Given the description of an element on the screen output the (x, y) to click on. 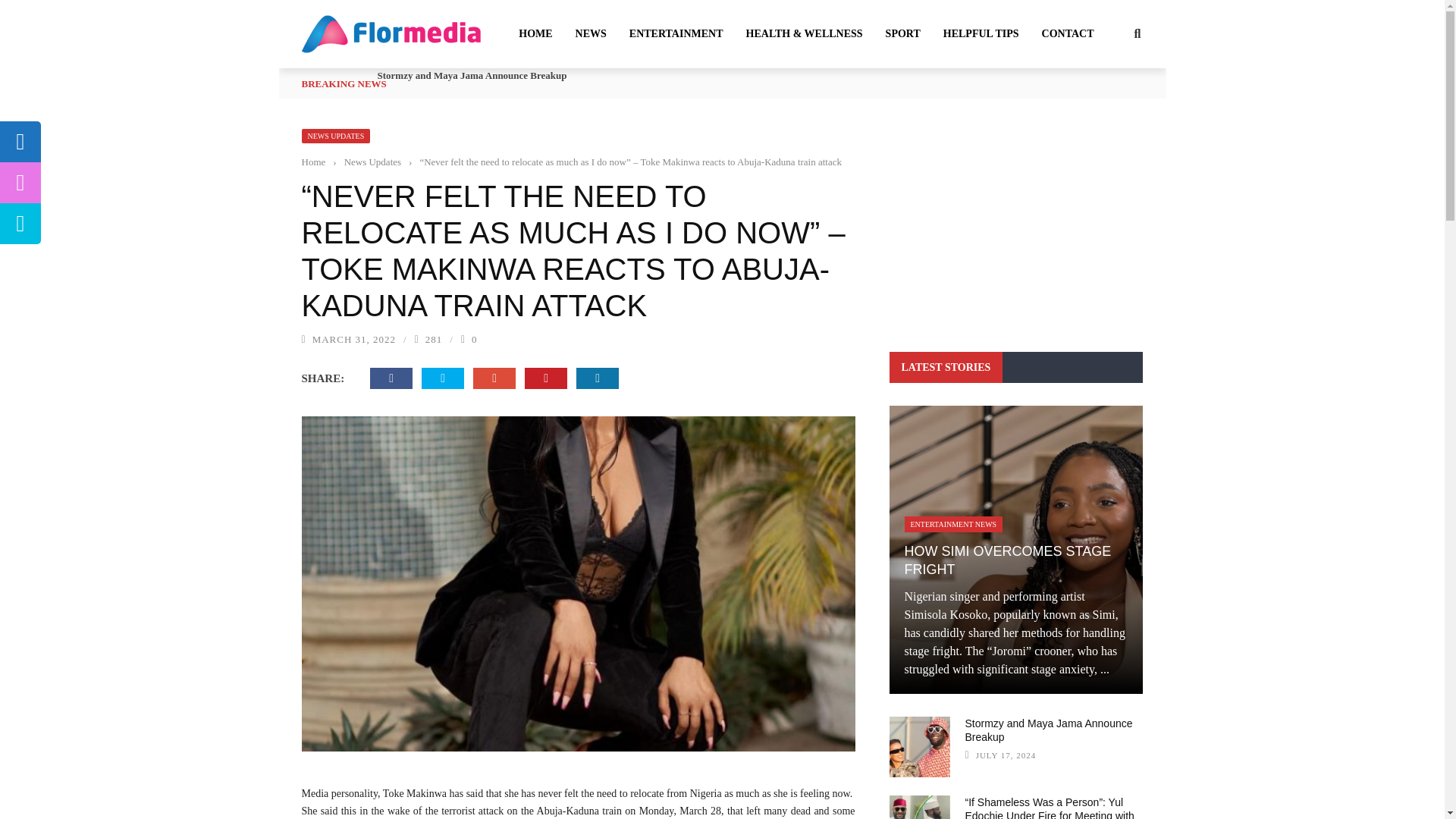
NEWS UPDATES (336, 135)
NEWS (590, 33)
Home (313, 161)
News Updates (372, 161)
HELPFUL TIPS (980, 33)
HOME (534, 33)
ENTERTAINMENT (676, 33)
Advertisement (1015, 220)
Stormzy and Maya Jama Announce Breakup (472, 75)
CONTACT (1067, 33)
SPORT (903, 33)
